Given the description of an element on the screen output the (x, y) to click on. 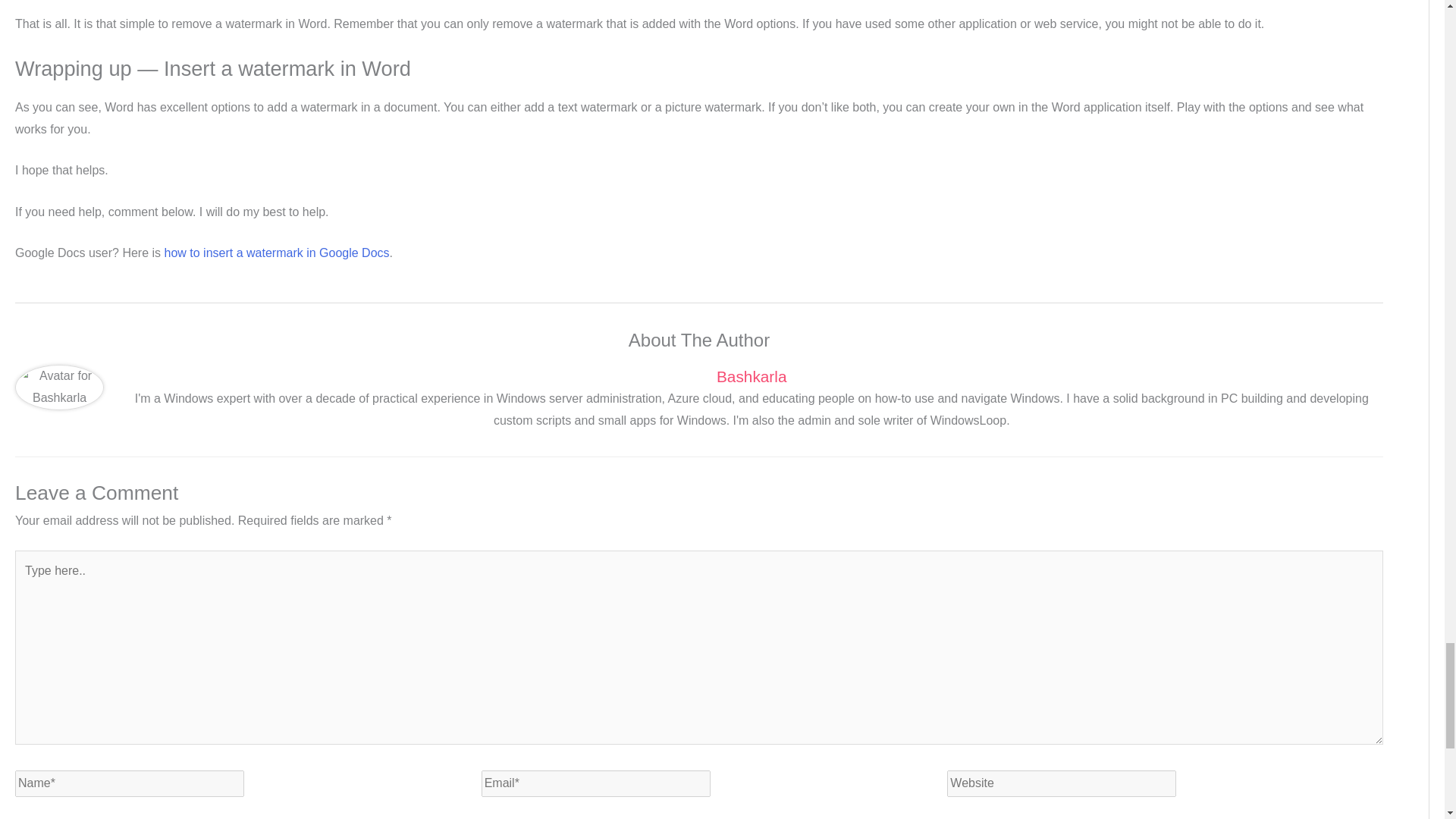
how to insert a watermark in Google Docs (277, 252)
Bashkarla (751, 376)
Gravatar for Bashkarla (58, 387)
